Given the description of an element on the screen output the (x, y) to click on. 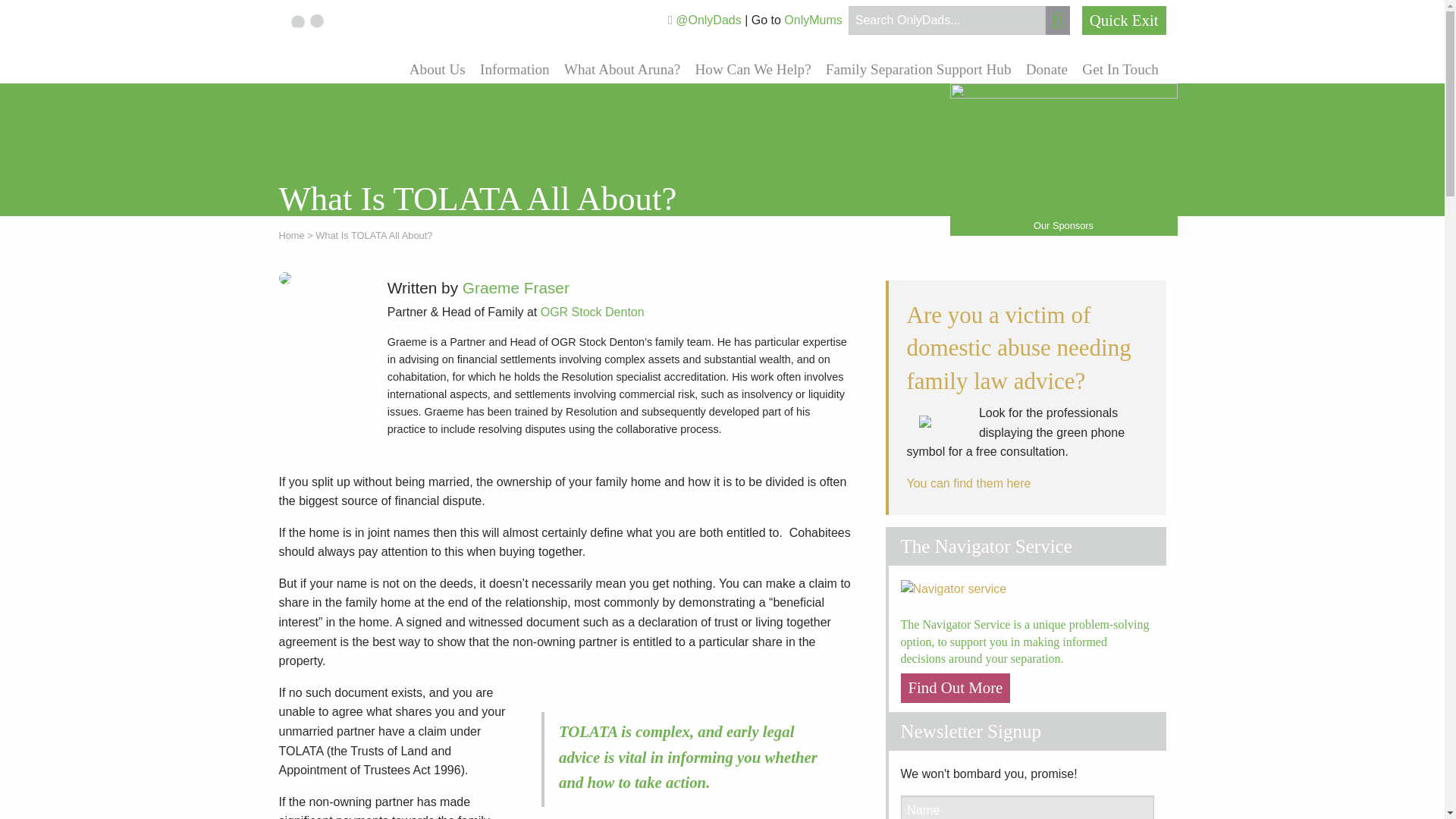
Family Separation Support Hub (917, 68)
Search for: (946, 20)
About Us (436, 68)
here (1018, 482)
Find Out More (955, 687)
OnlyMums (812, 19)
Get In Touch (1120, 68)
You can find them (957, 482)
Information (513, 68)
